Given the description of an element on the screen output the (x, y) to click on. 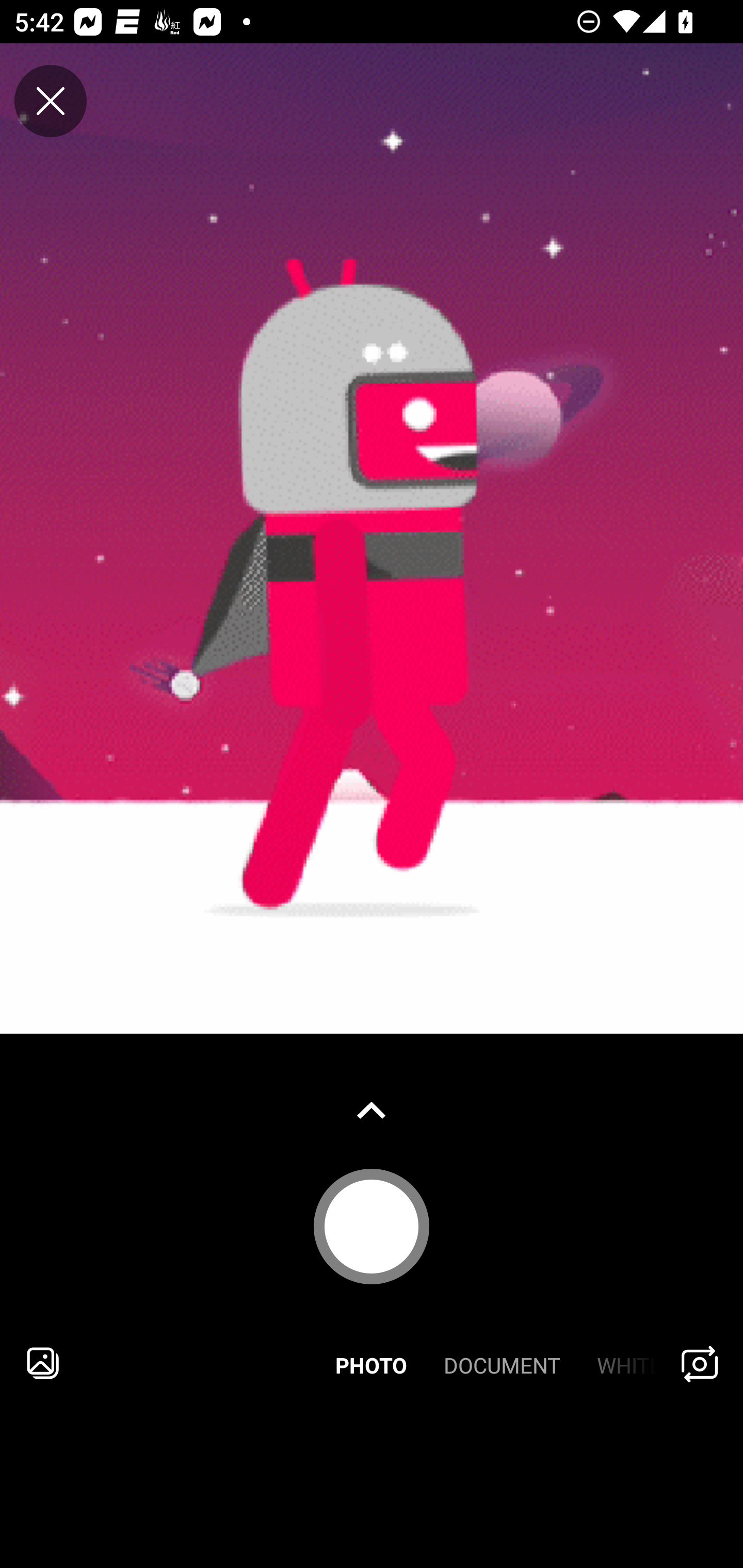
Close (50, 101)
Show gallery (371, 1110)
Capture (371, 1226)
Import (43, 1363)
Flip Camera (699, 1363)
PHOTO (371, 1362)
DOCUMENT (502, 1362)
